Given the description of an element on the screen output the (x, y) to click on. 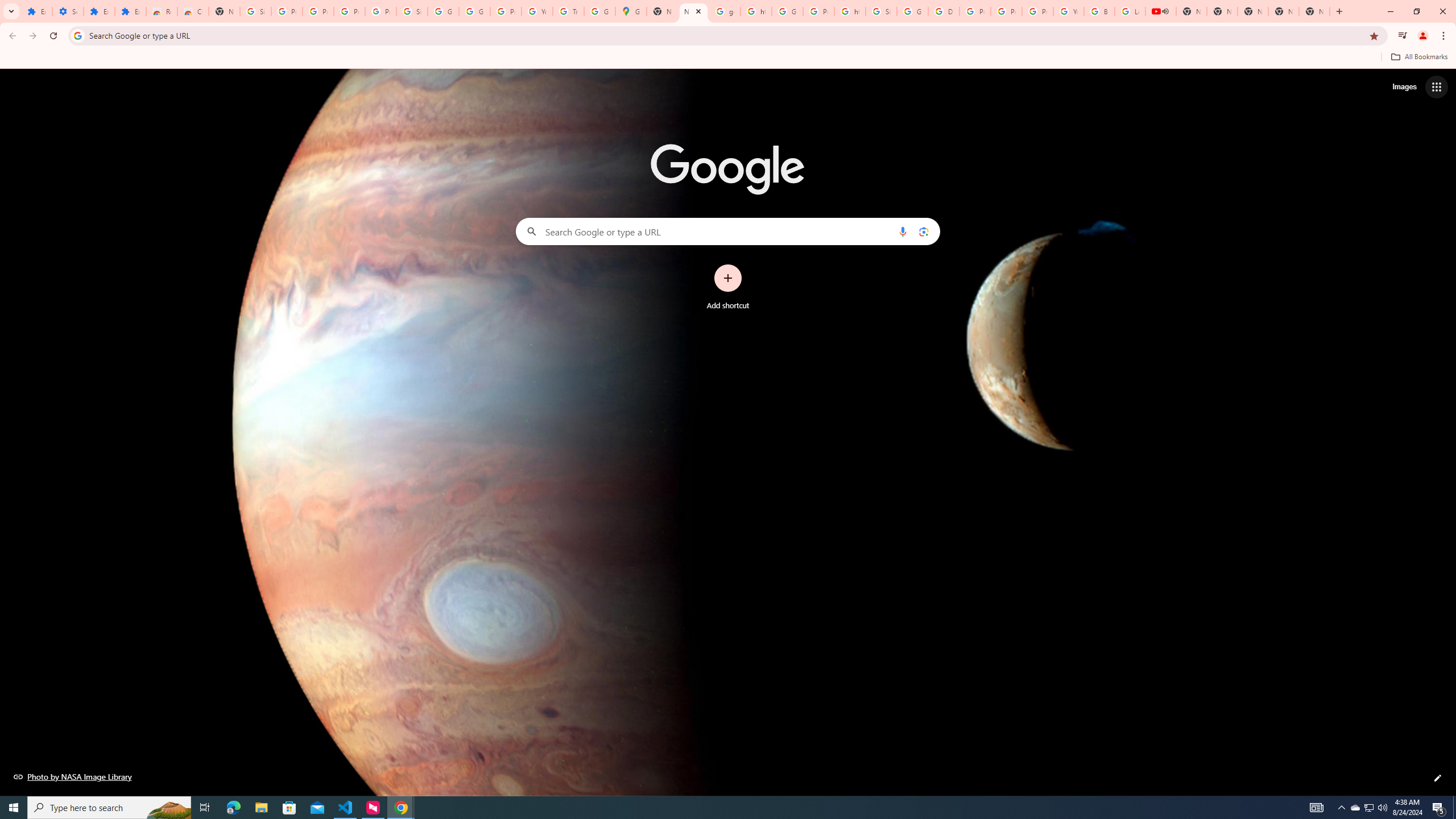
Sign in - Google Accounts (255, 11)
New Tab (1314, 11)
Privacy Help Center - Policies Help (974, 11)
Google Maps (631, 11)
Search Google or type a URL (727, 230)
Extensions (130, 11)
Add shortcut (727, 287)
https://scholar.google.com/ (849, 11)
Browse Chrome as a guest - Computer - Google Chrome Help (1098, 11)
